Given the description of an element on the screen output the (x, y) to click on. 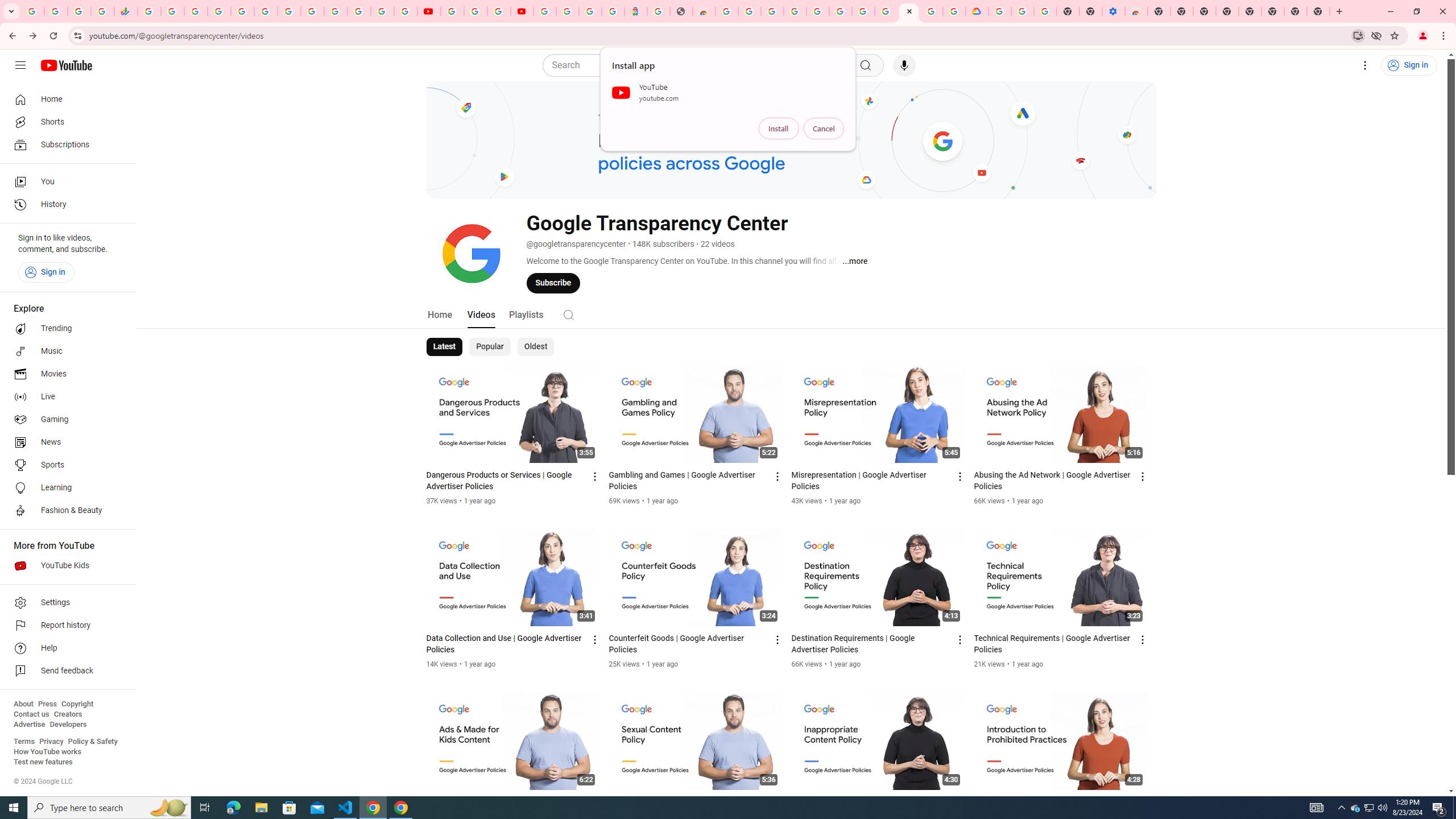
Gaming (64, 419)
Press (46, 703)
Playlists (525, 314)
New Tab (1158, 11)
Developers (68, 724)
Android TV Policies and Guidelines - Transparency Center (288, 11)
Copyright (77, 703)
Create your Google Account (931, 11)
Android TV Policies and Guidelines - Transparency Center (885, 11)
